Given the description of an element on the screen output the (x, y) to click on. 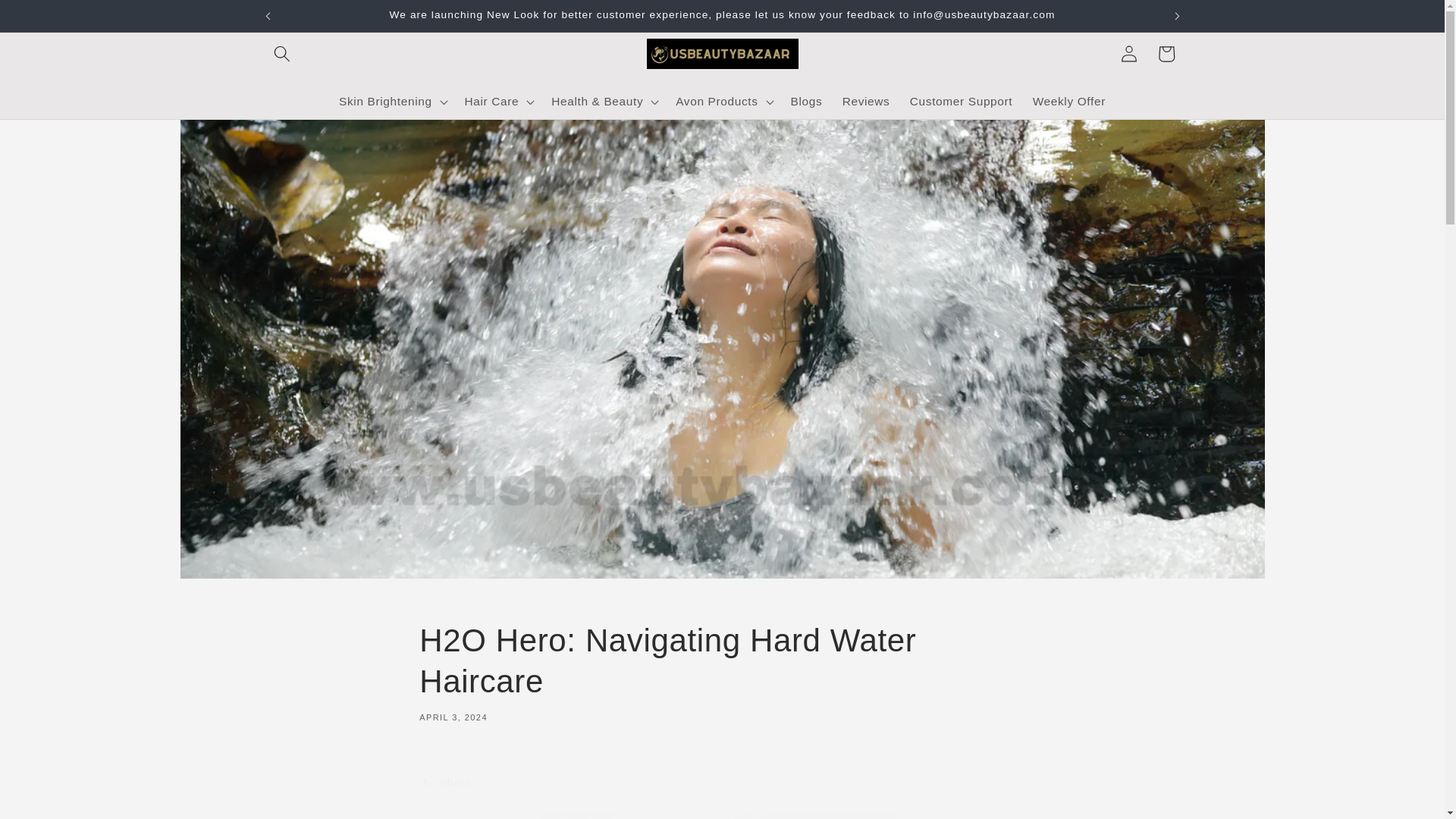
Share (722, 782)
Skip to content (722, 670)
